Given the description of an element on the screen output the (x, y) to click on. 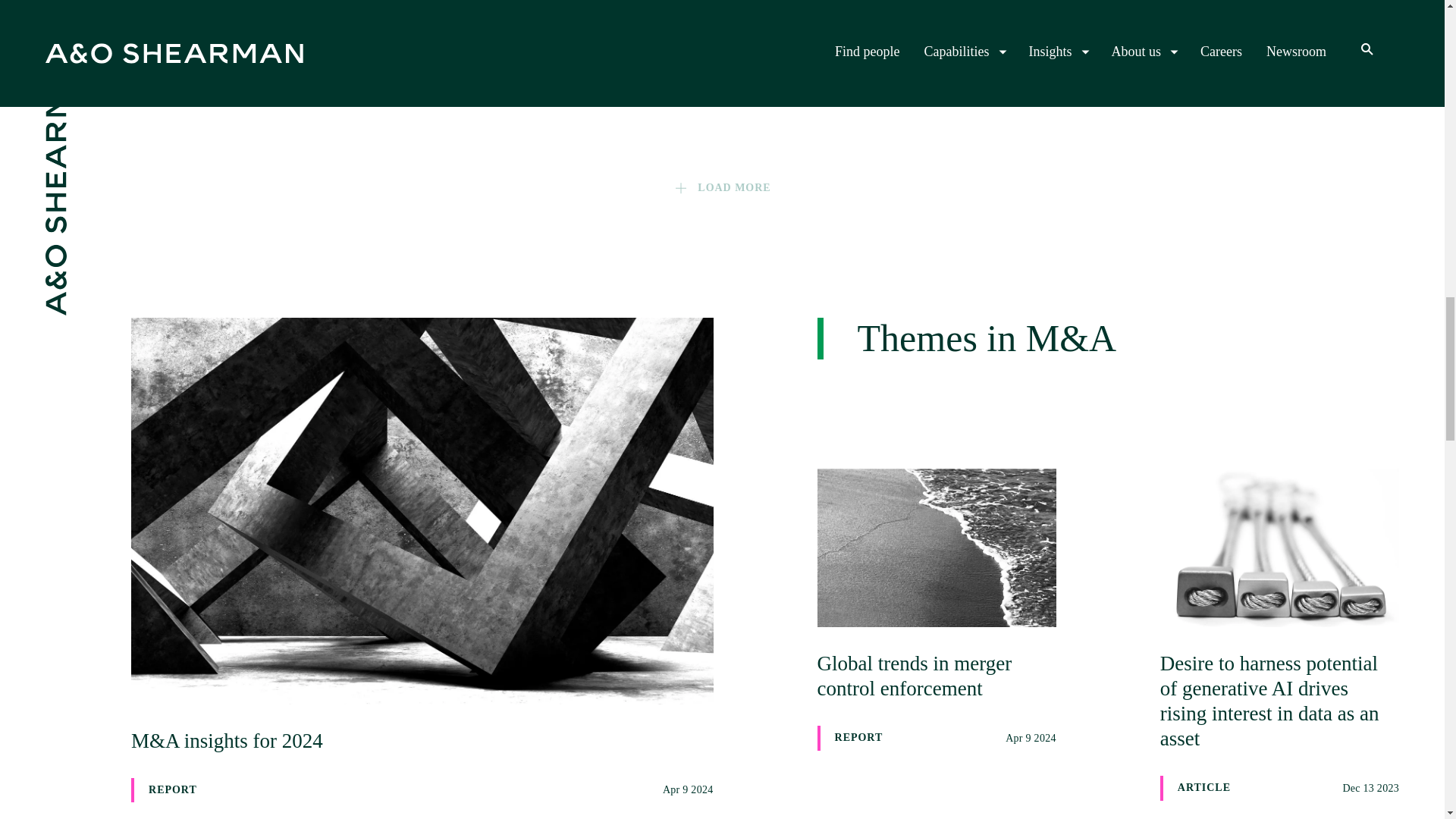
LOAD MORE (293, 22)
